Given the description of an element on the screen output the (x, y) to click on. 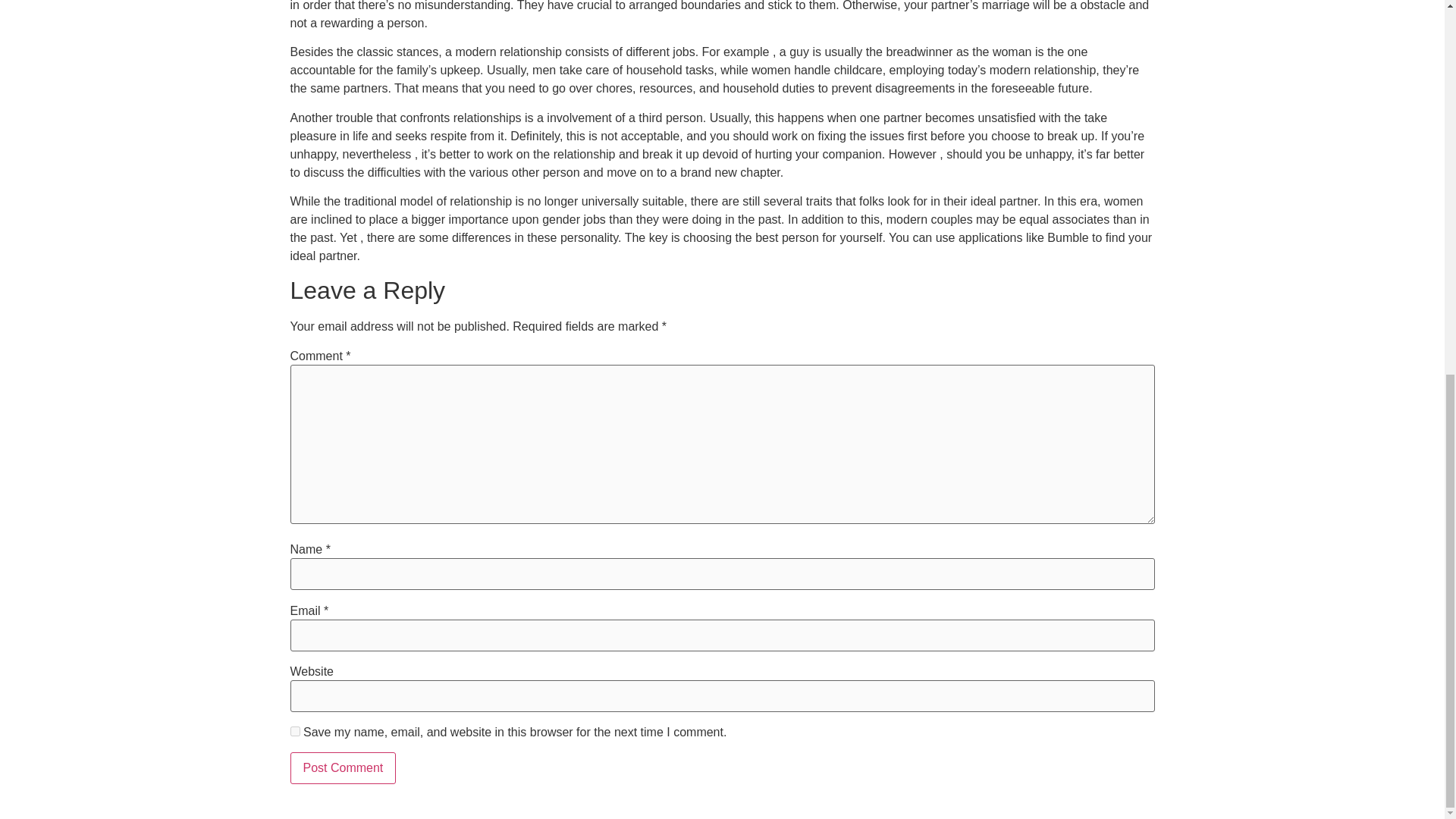
yes (294, 731)
Post Comment (342, 767)
Post Comment (342, 767)
